Given the description of an element on the screen output the (x, y) to click on. 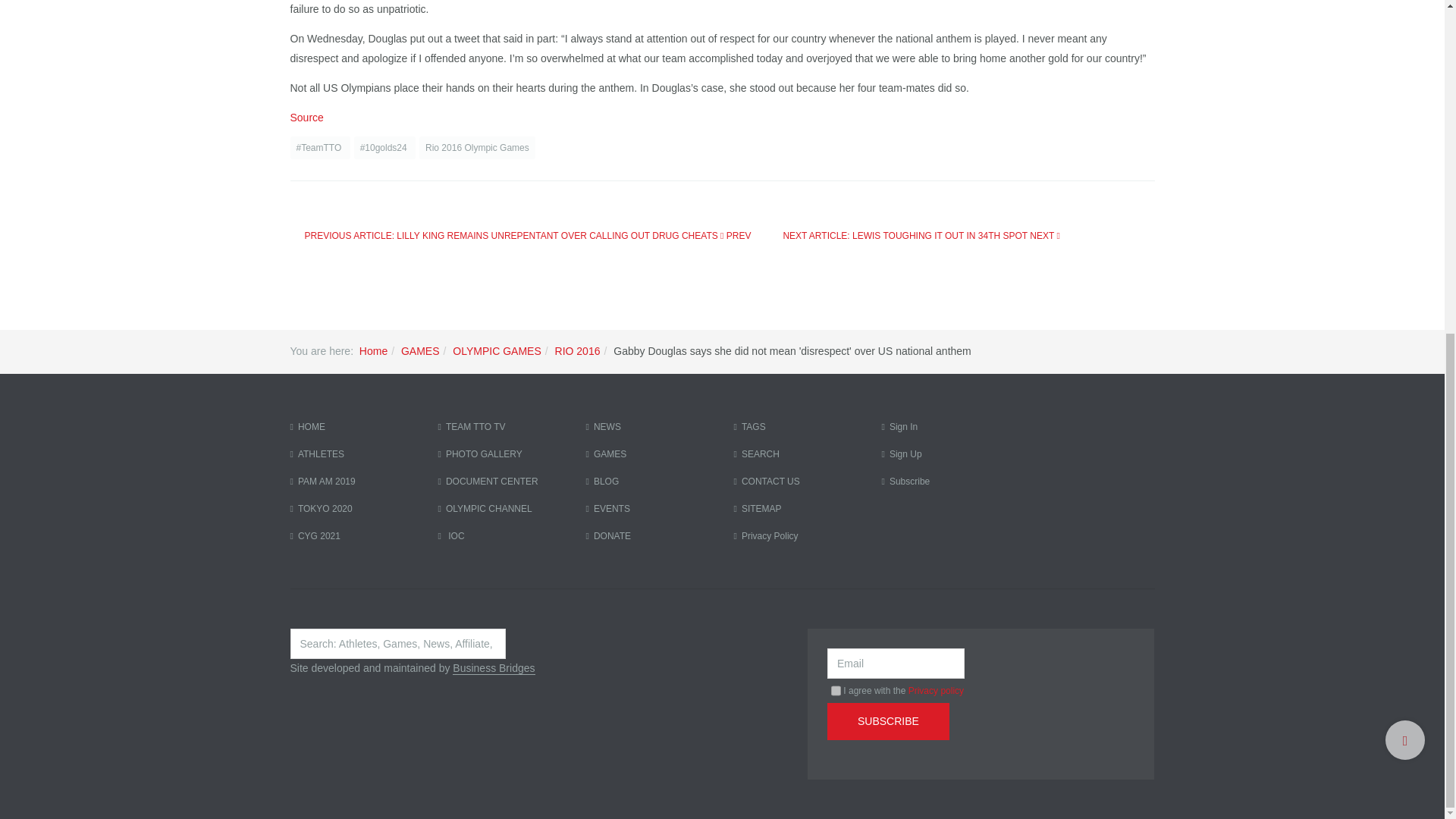
Subscribe (888, 721)
on (836, 690)
Back to Top (1405, 182)
Business Bridges (493, 667)
Terms and conditions (836, 690)
